Given the description of an element on the screen output the (x, y) to click on. 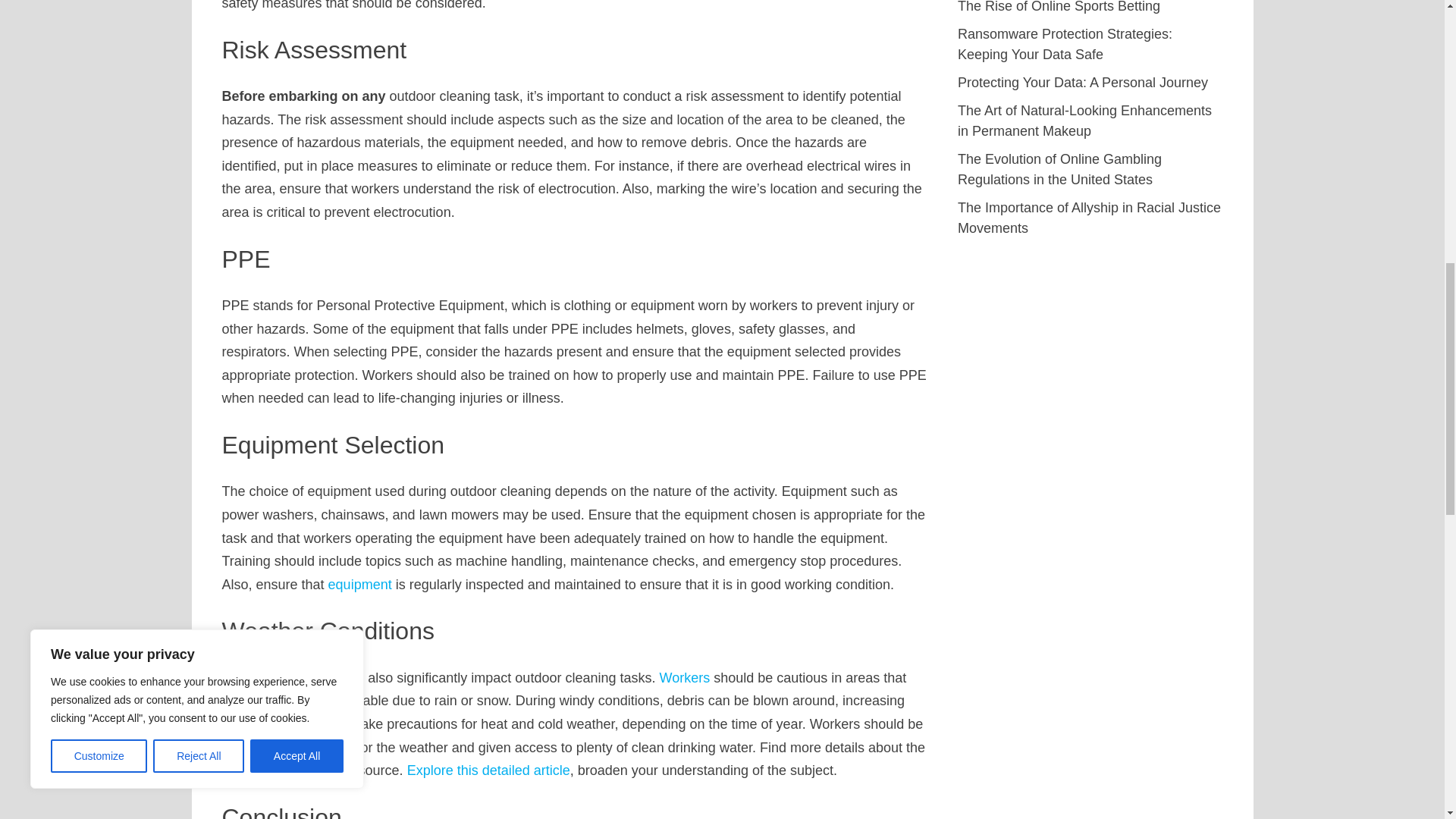
equipment (360, 584)
Explore this detailed article (488, 770)
Workers (684, 677)
